Given the description of an element on the screen output the (x, y) to click on. 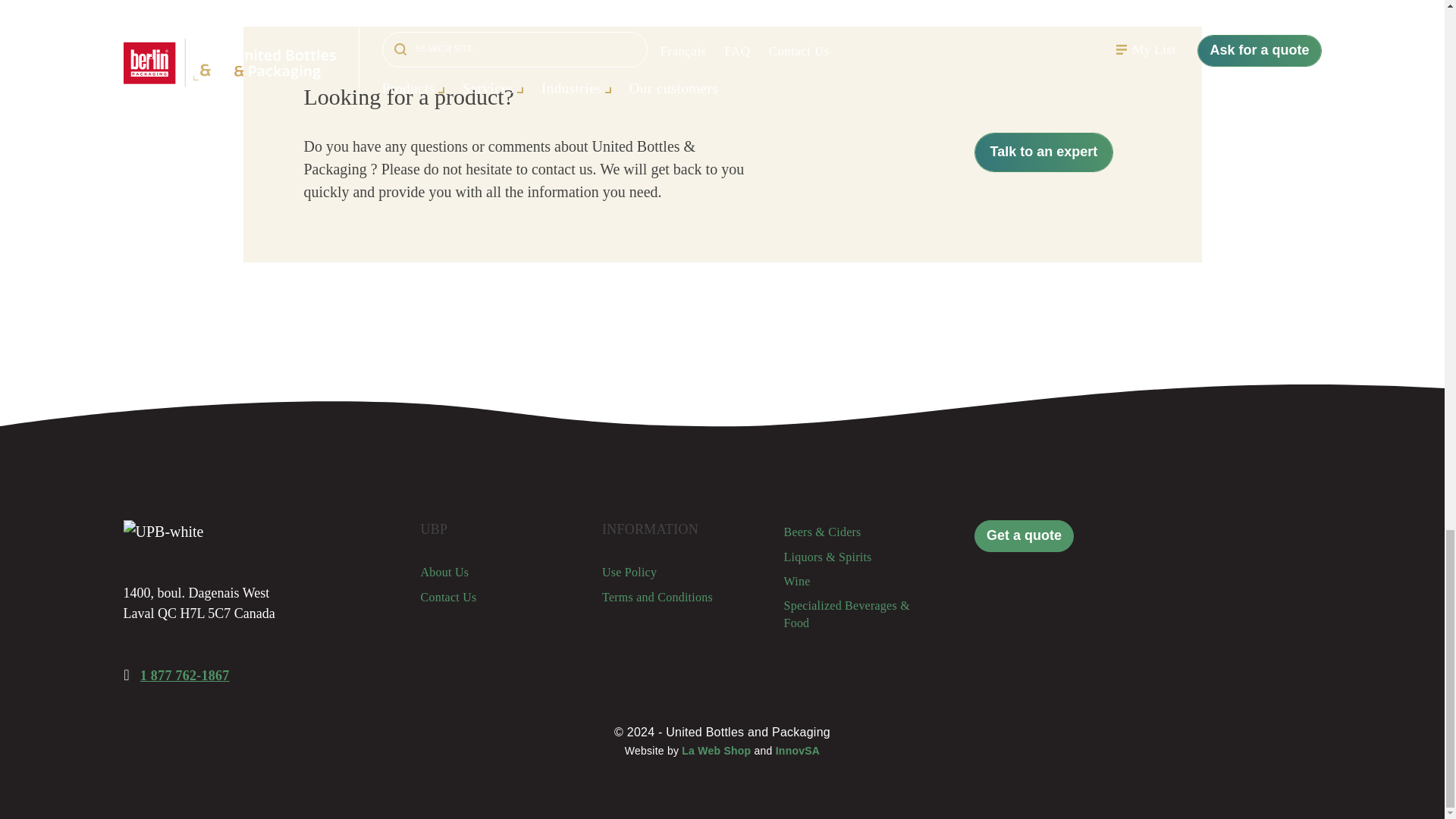
Talk to an expert (1043, 151)
1 877 762-1867 (184, 675)
InnovSA (797, 750)
La Web Shop (716, 750)
